Given the description of an element on the screen output the (x, y) to click on. 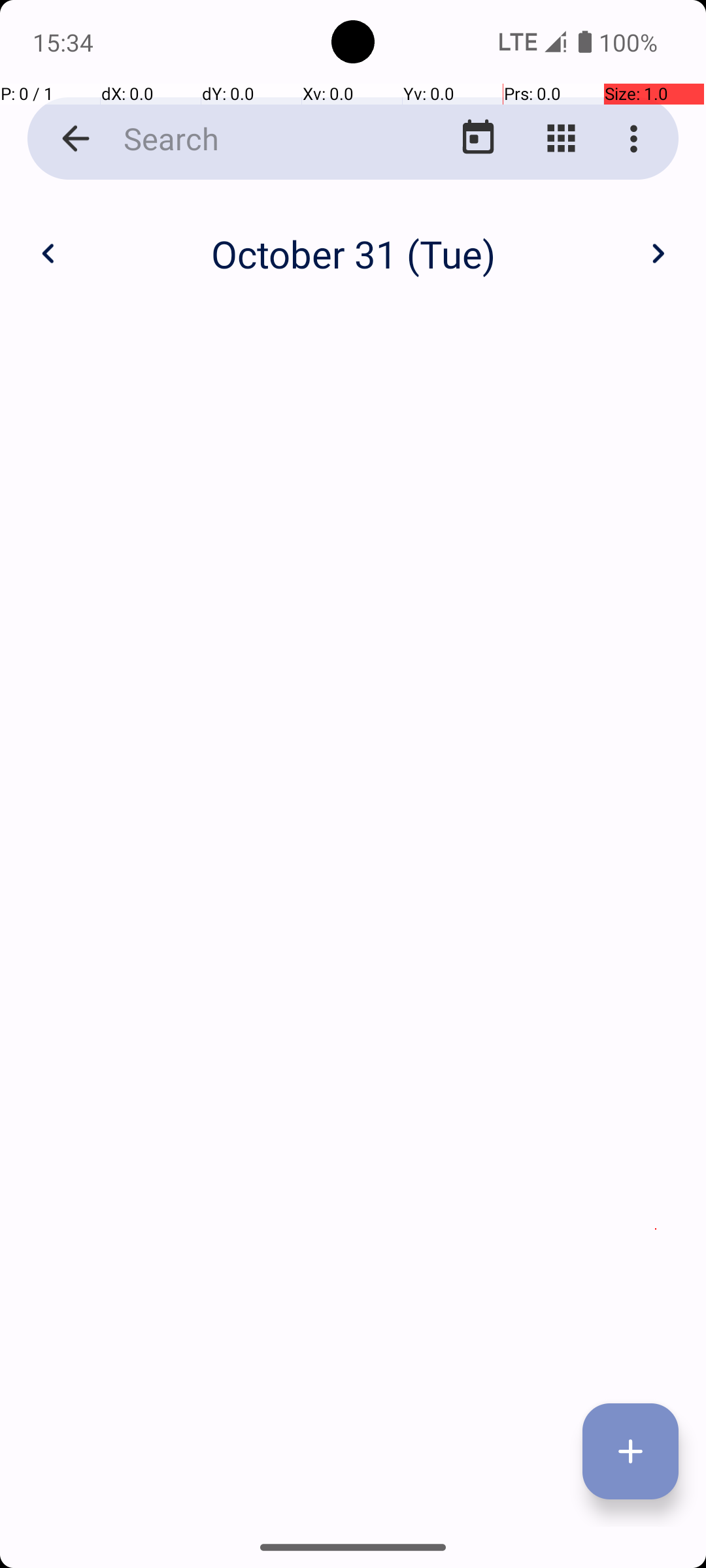
October 31 (Tue) Element type: android.widget.TextView (352, 253)
